Given the description of an element on the screen output the (x, y) to click on. 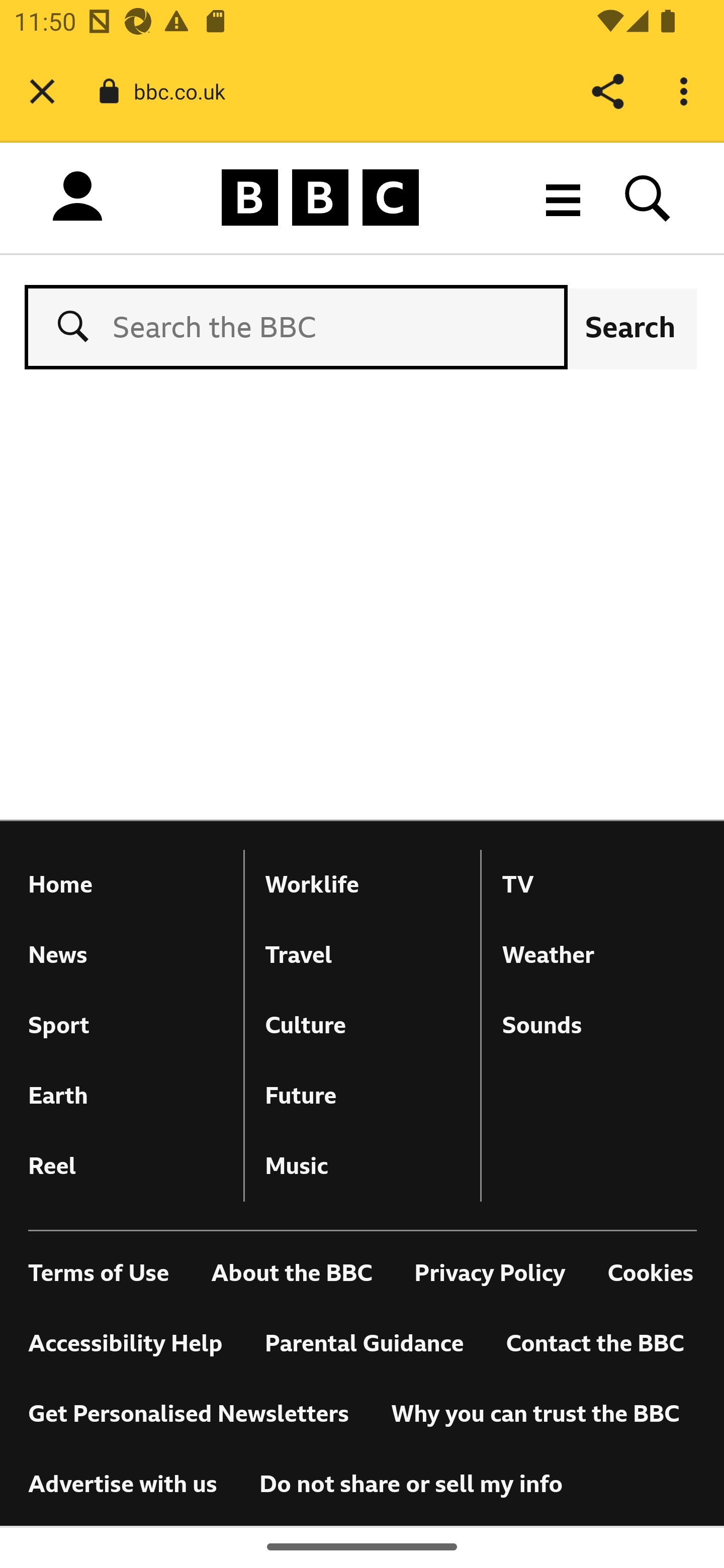
Close tab (42, 91)
Share (607, 91)
More options (687, 91)
Connection is secure (108, 91)
bbc.co.uk (186, 90)
Sign in (77, 200)
BBC Homepage (320, 197)
More menu (563, 197)
Search BBC (648, 197)
Search (630, 326)
Home (125, 884)
Worklife (362, 884)
TV (599, 884)
News (125, 955)
Travel (362, 955)
Weather (599, 955)
Sport (125, 1025)
Culture (362, 1025)
Sounds (599, 1025)
Earth (125, 1095)
Future (362, 1095)
Reel (125, 1165)
Music (362, 1165)
Terms of Use (99, 1273)
About the BBC (291, 1273)
Privacy Policy (489, 1273)
Cookies (650, 1273)
Accessibility Help (125, 1344)
Parental Guidance (363, 1344)
Contact the BBC (594, 1344)
Get Personalised Newsletters (188, 1414)
Why you can trust the BBC (535, 1414)
Advertise with us (123, 1484)
Do not share or sell my info (410, 1483)
